Given the description of an element on the screen output the (x, y) to click on. 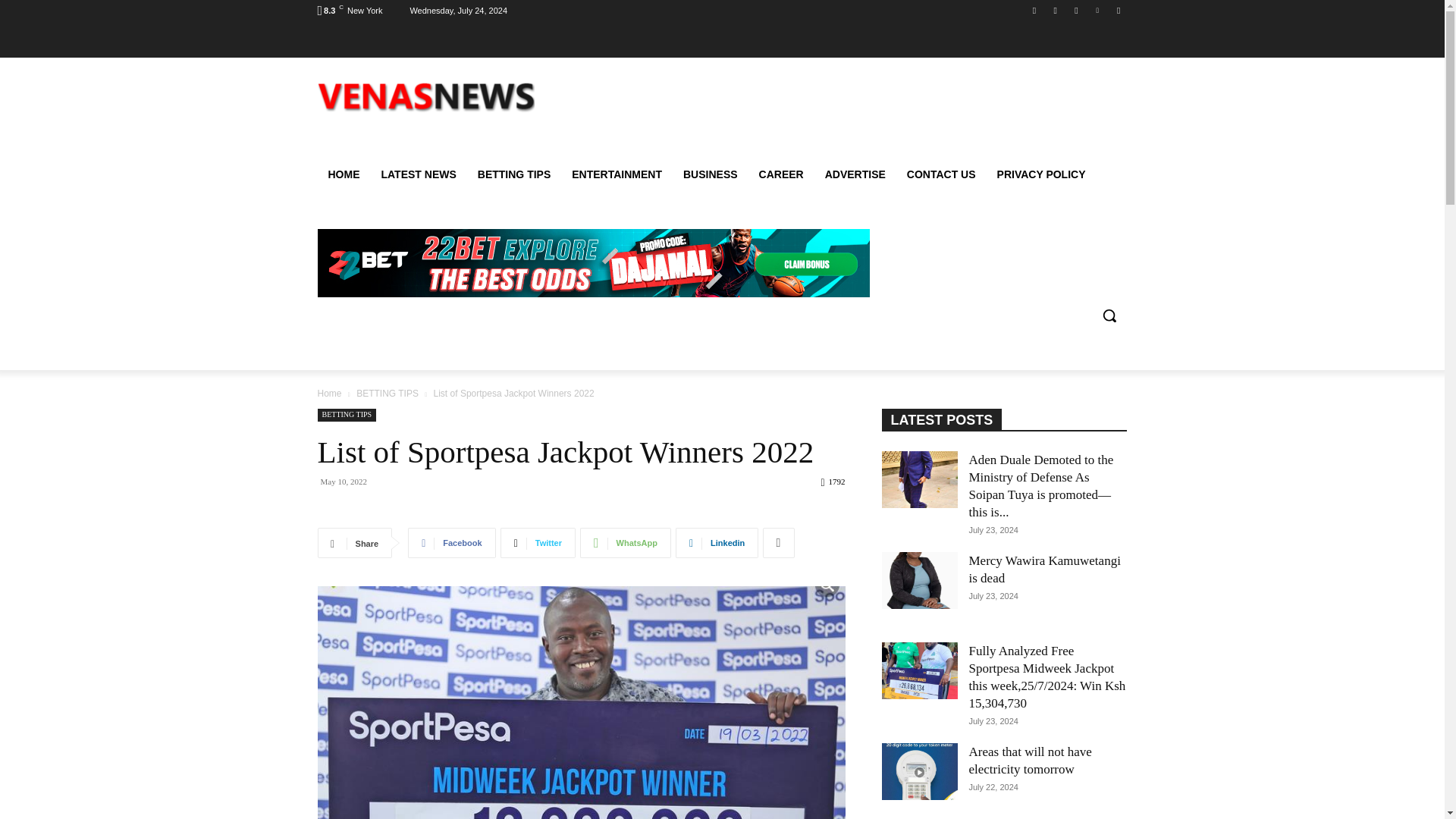
Youtube (1117, 9)
View all posts in BETTING TIPS (387, 393)
Facebook (451, 542)
CAREER (780, 174)
WhatsApp (625, 542)
CONTACT US (941, 174)
BETTING TIPS (387, 393)
BUSINESS (710, 174)
Facebook (1034, 9)
ENTERTAINMENT (616, 174)
PRIVACY POLICY (1041, 174)
Twitter (537, 542)
topFacebookLike (430, 508)
ADVERTISE (854, 174)
Linkedin (716, 542)
